Given the description of an element on the screen output the (x, y) to click on. 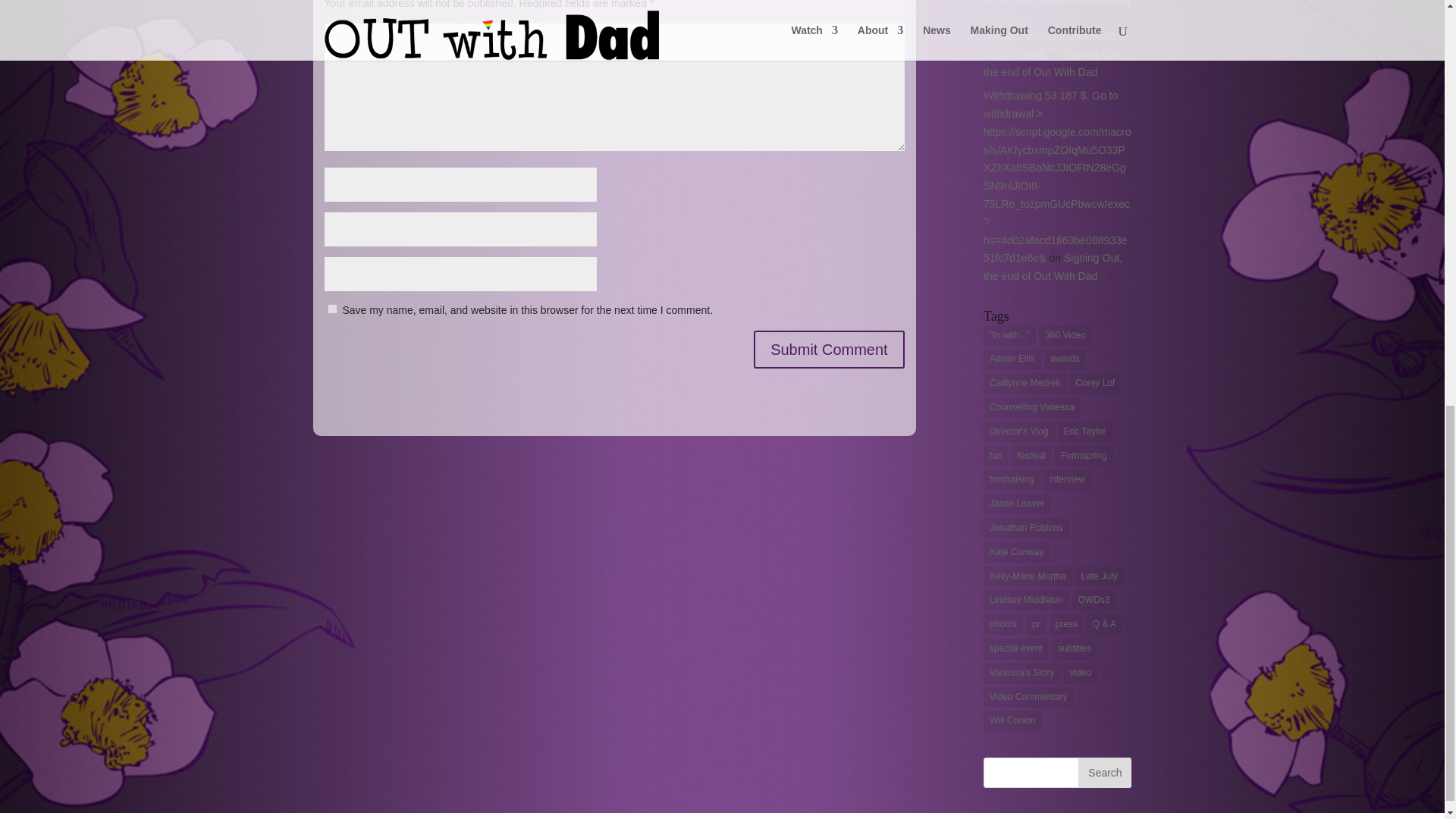
yes (332, 308)
Search (1104, 772)
Submit Comment (829, 349)
